Given the description of an element on the screen output the (x, y) to click on. 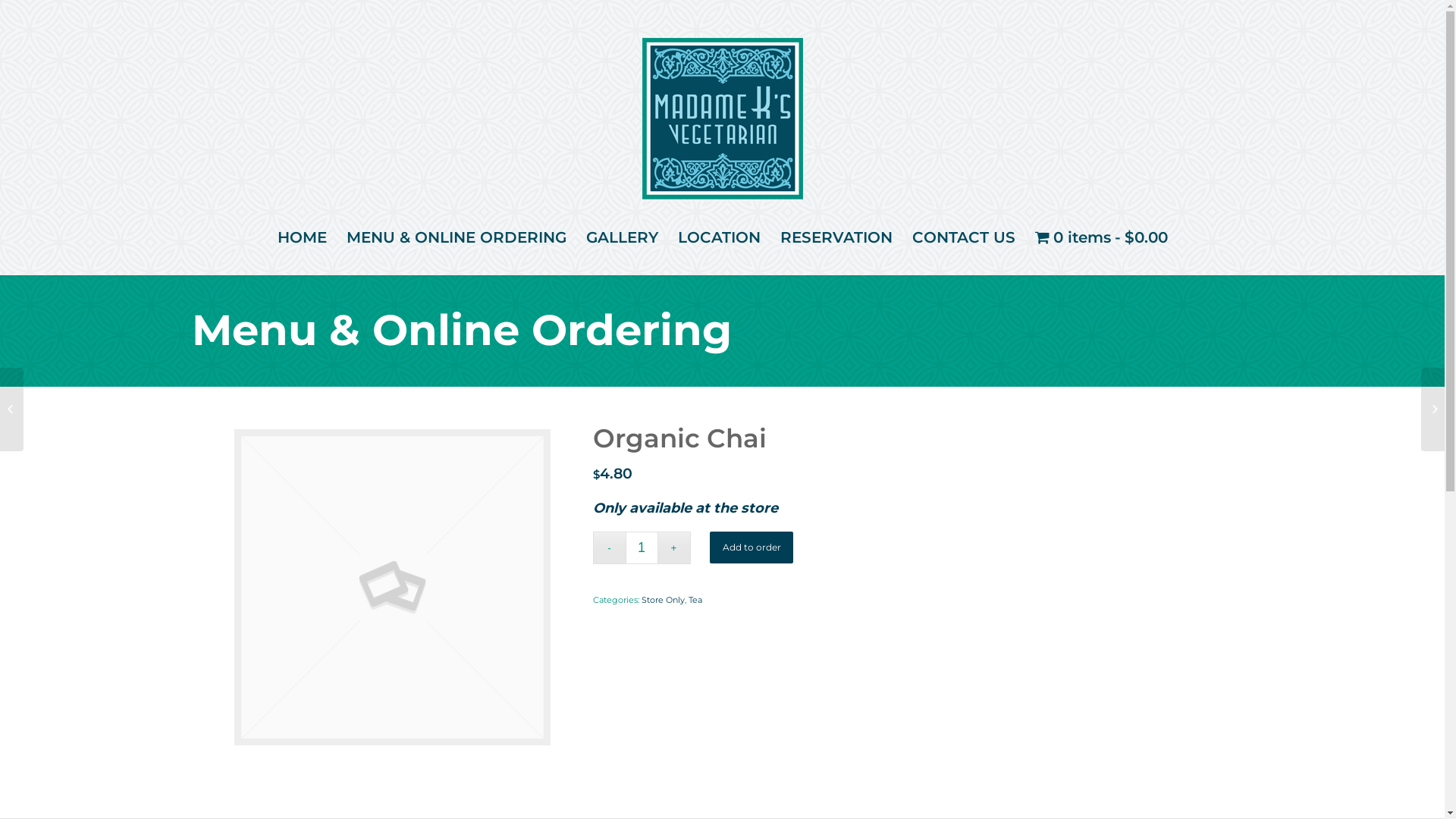
GALLERY Element type: text (622, 237)
CONTACT US Element type: text (963, 237)
Add to order Element type: text (751, 547)
LOCATION Element type: text (718, 237)
Qty Element type: hover (640, 547)
Menu & Online Ordering Element type: text (461, 329)
Tea Element type: text (695, 599)
0 items$0.00 Element type: text (1101, 237)
Store Only Element type: text (662, 599)
RESERVATION Element type: text (836, 237)
HOME Element type: text (300, 237)
MENU & ONLINE ORDERING Element type: text (456, 237)
